Given the description of an element on the screen output the (x, y) to click on. 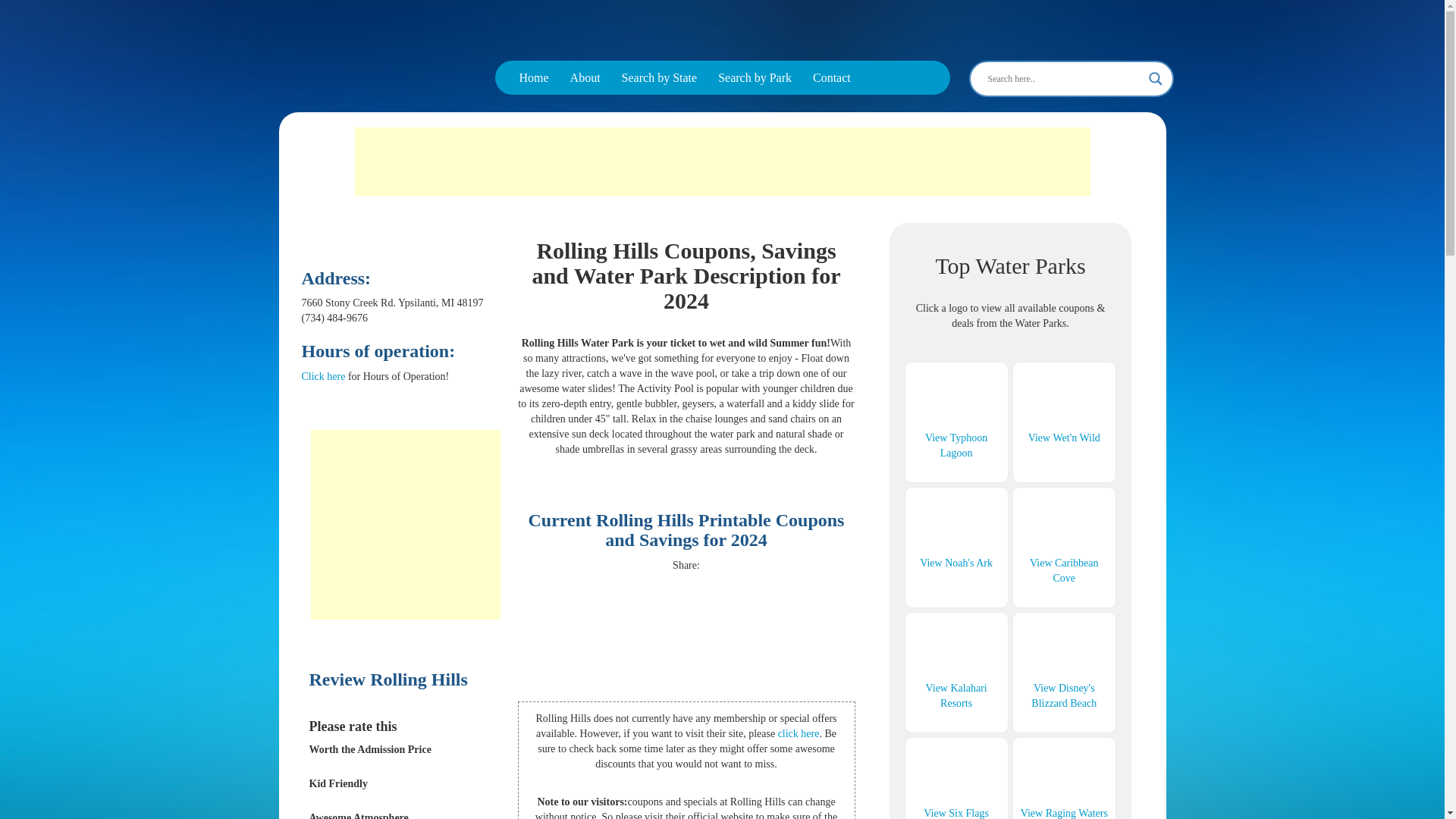
View Raging Waters San Dimas (1064, 813)
About (585, 77)
View Six Flags White Water (955, 813)
Click here (323, 376)
click here (798, 733)
Home (533, 77)
View Disney's Blizzard Beach (1063, 695)
Search by State (659, 77)
View Kalahari Resorts (955, 695)
